Given the description of an element on the screen output the (x, y) to click on. 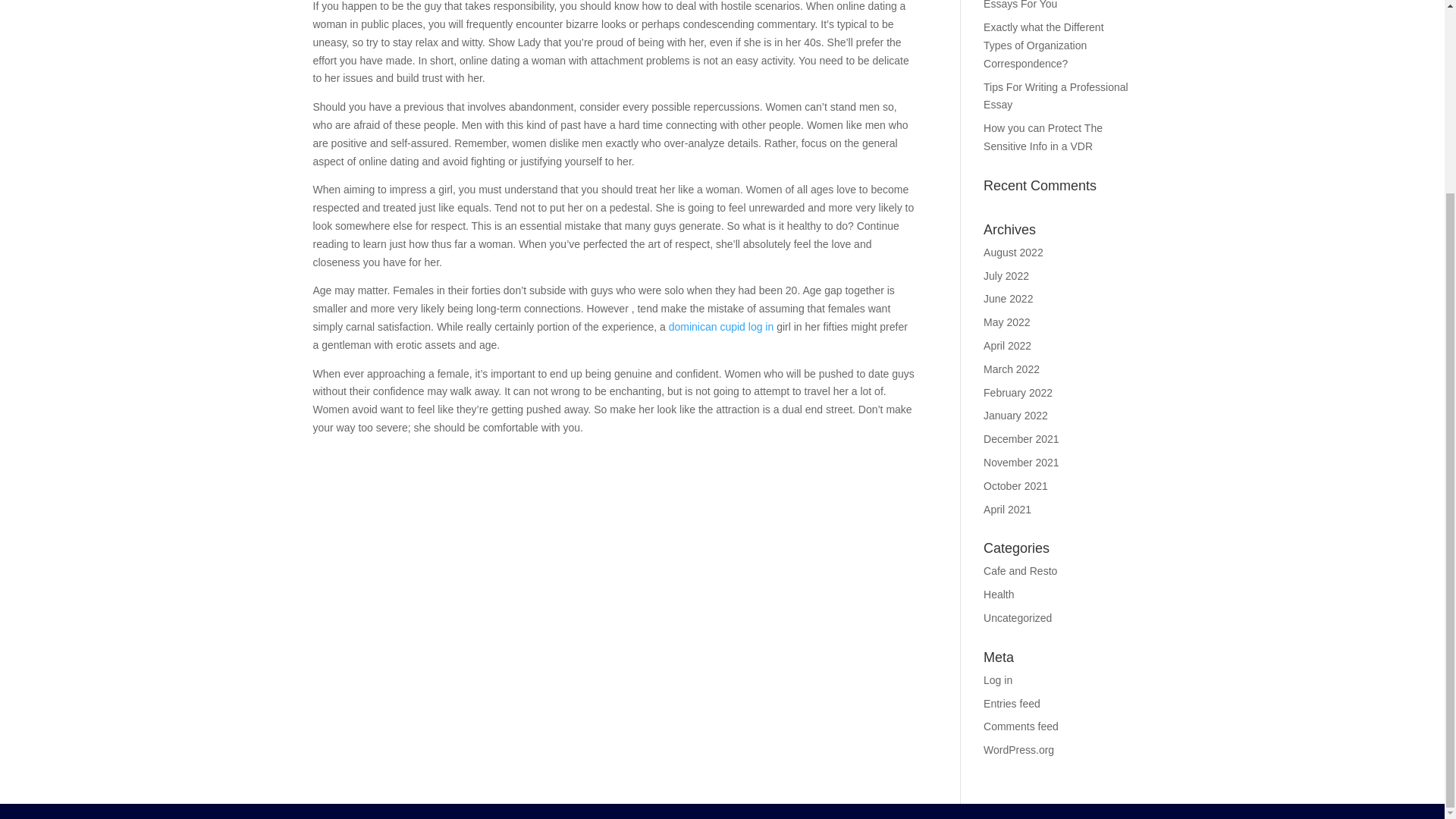
dominican cupid log in (721, 326)
January 2022 (1016, 415)
August 2022 (1013, 252)
How you can Protect The Sensitive Info in a VDR (1043, 137)
Entries feed (1012, 703)
Uncategorized (1017, 617)
Cafe and Resto (1020, 571)
October 2021 (1016, 485)
May 2022 (1006, 322)
March 2022 (1011, 369)
June 2022 (1008, 298)
Log in (997, 680)
April 2021 (1007, 509)
Tips For Writing a Professional Essay (1056, 96)
